Given the description of an element on the screen output the (x, y) to click on. 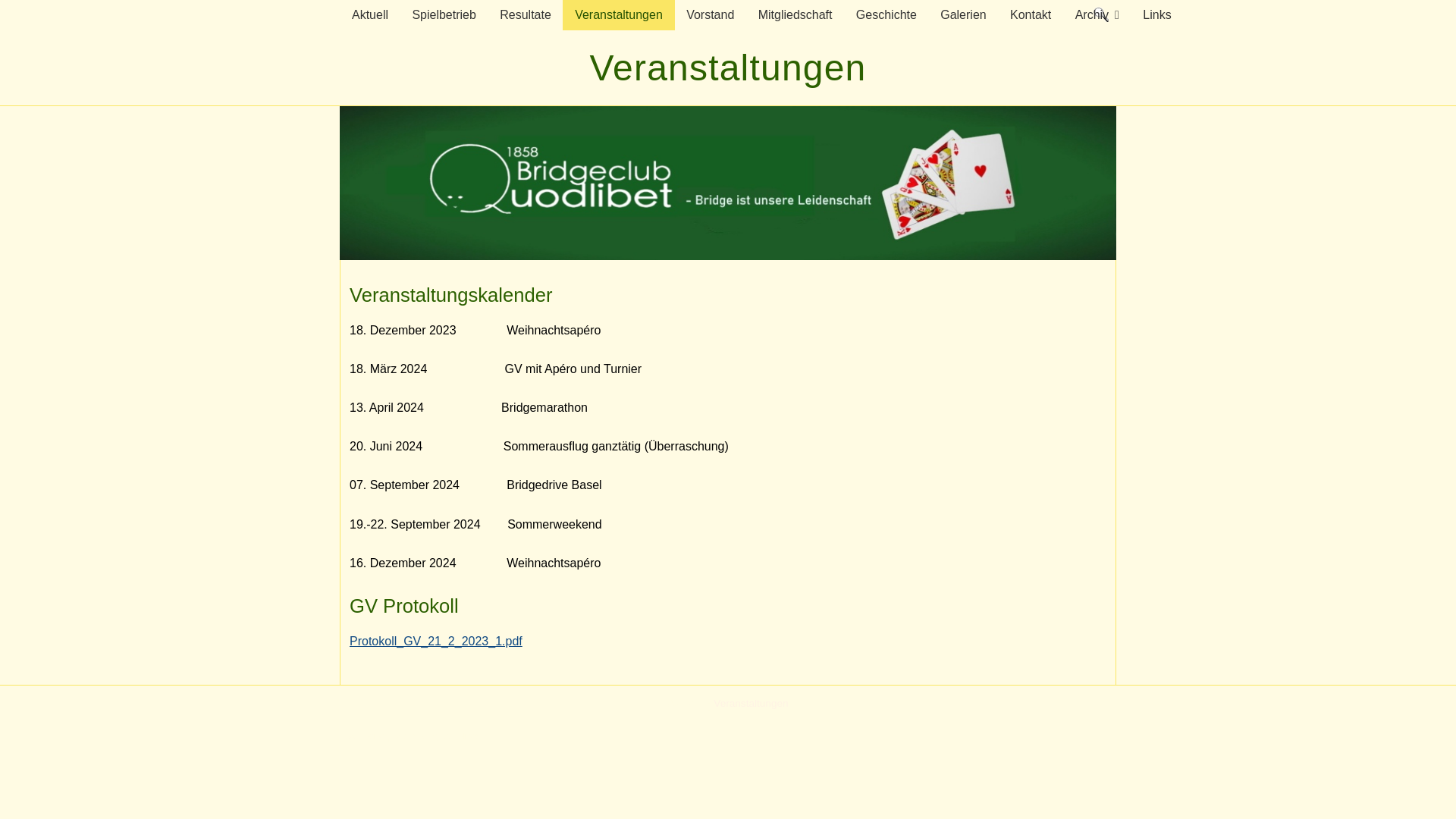
Veranstaltungen Element type: text (747, 706)
Suchen Element type: hover (1100, 14)
Protokoll_GV_21_2_2023_1.pdf Element type: text (435, 640)
weblica Element type: text (460, 735)
Mitgliedschaft Element type: text (795, 15)
Kontakt Element type: text (1030, 15)
Resultate Element type: text (525, 15)
Spielbetrieb Element type: text (443, 15)
Geschichte Element type: text (886, 15)
Vorstand Element type: text (710, 15)
Veranstaltungen Element type: text (618, 15)
Links Element type: text (1156, 15)
Aktuell Element type: text (369, 15)
Galerien Element type: text (962, 15)
Aktuell Element type: text (682, 706)
Archiv Element type: text (1097, 15)
